Given the description of an element on the screen output the (x, y) to click on. 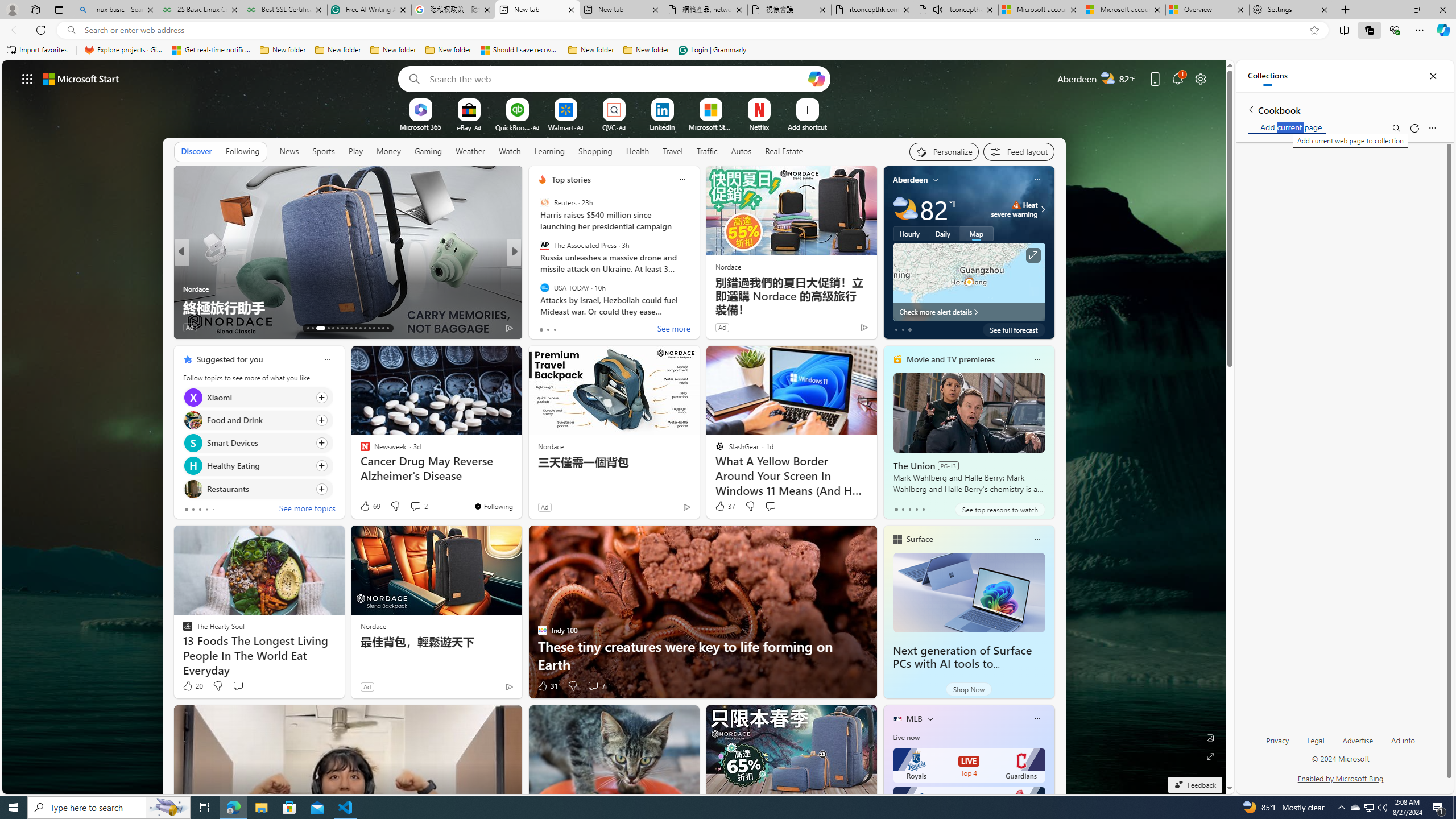
Favorites bar (728, 49)
219 Like (545, 327)
Restaurants (192, 488)
You're following Newsweek (493, 505)
Personalize your feed" (943, 151)
19 Rare and Mysterious Deep-Sea Creatures (347, 307)
21 Myths About Death That Millions Still Believe (697, 307)
Heat - Severe Heat severe warning (1014, 208)
Food and Drink (192, 419)
My location (936, 179)
